Given the description of an element on the screen output the (x, y) to click on. 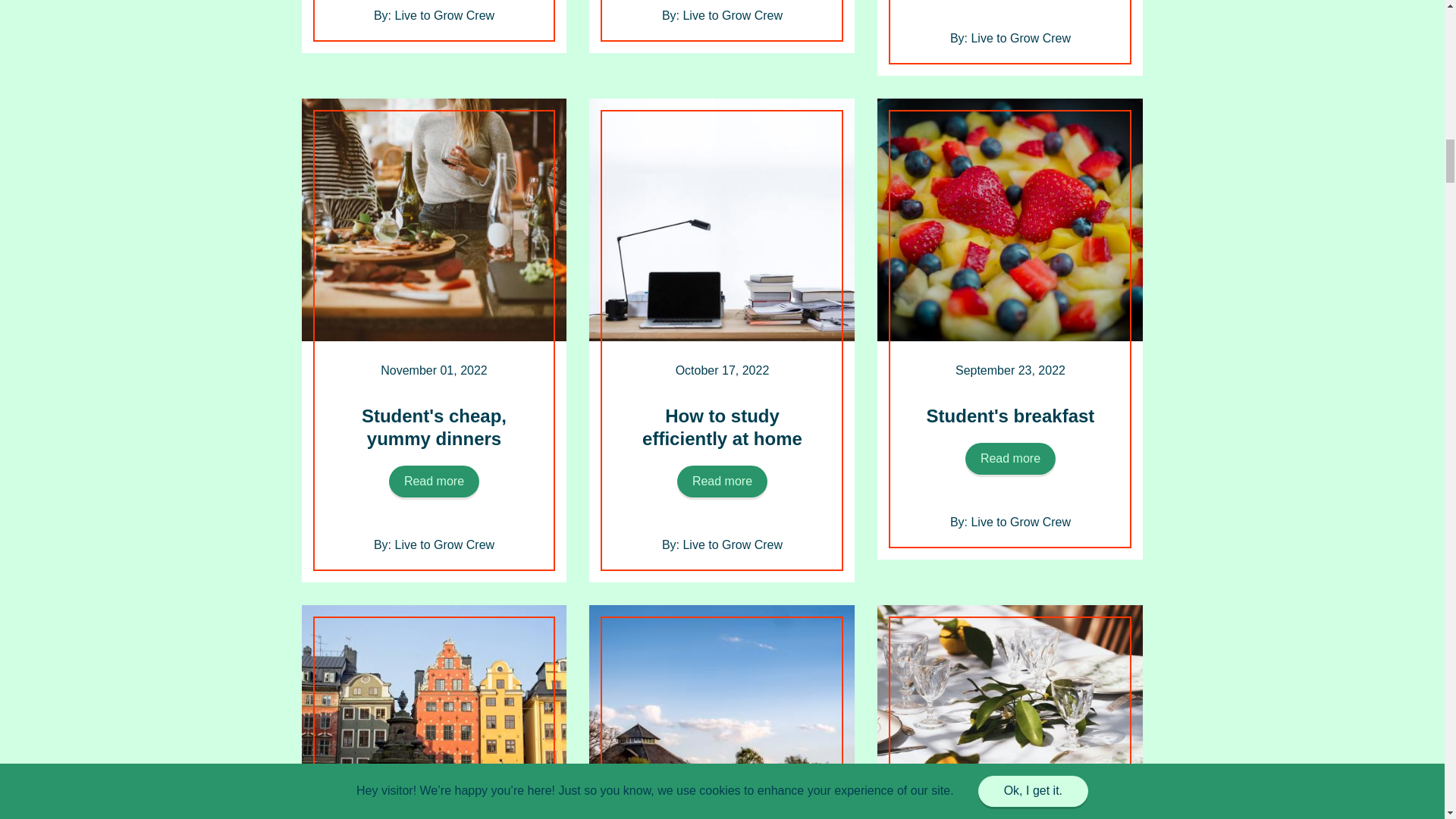
Read more (433, 481)
Read more (722, 481)
Read more (1010, 459)
